Given the description of an element on the screen output the (x, y) to click on. 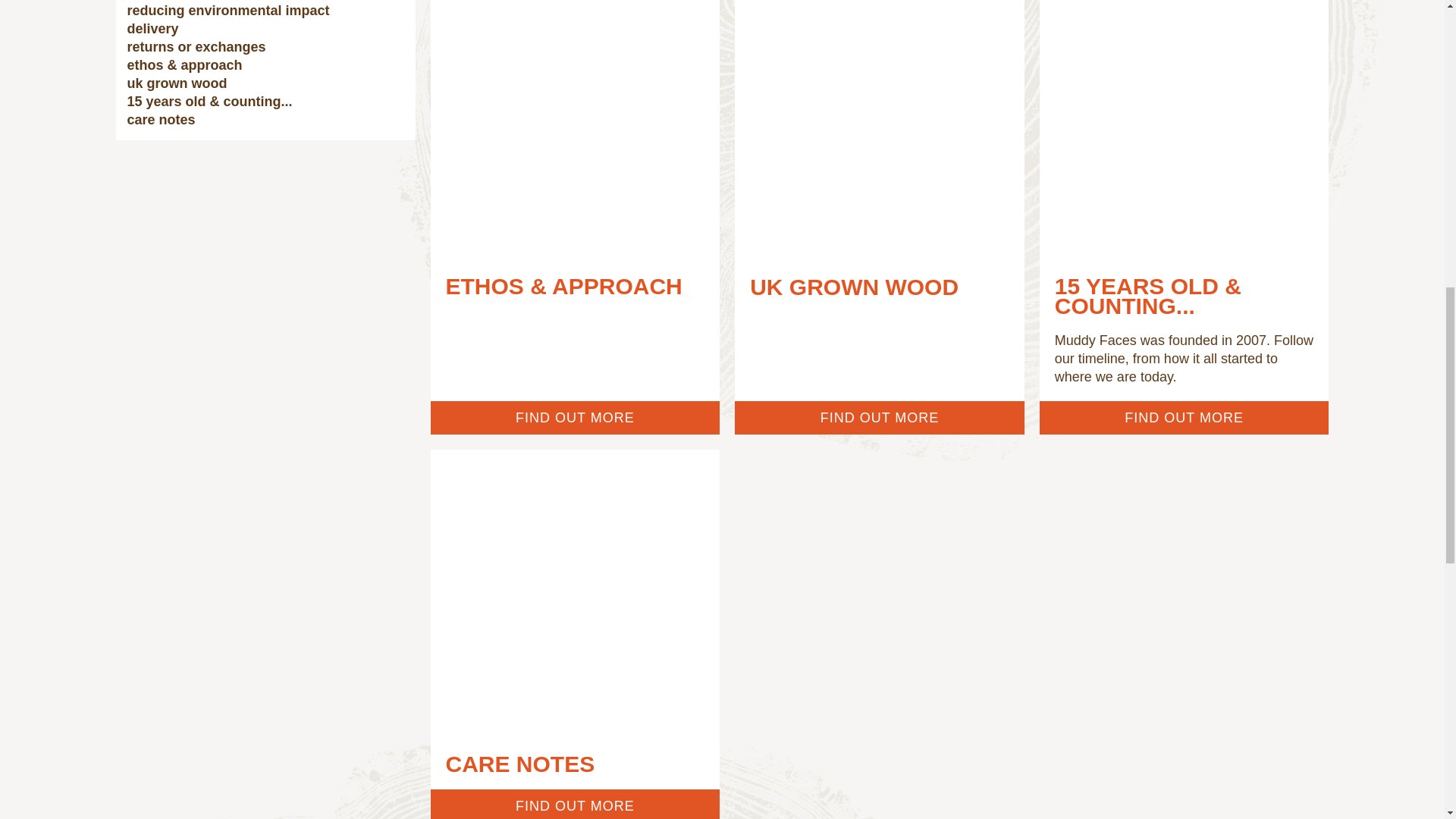
returns or exchanges (266, 46)
reducing environmental impact (266, 10)
delivery (266, 28)
care notes (266, 119)
uk grown wood (266, 83)
